Given the description of an element on the screen output the (x, y) to click on. 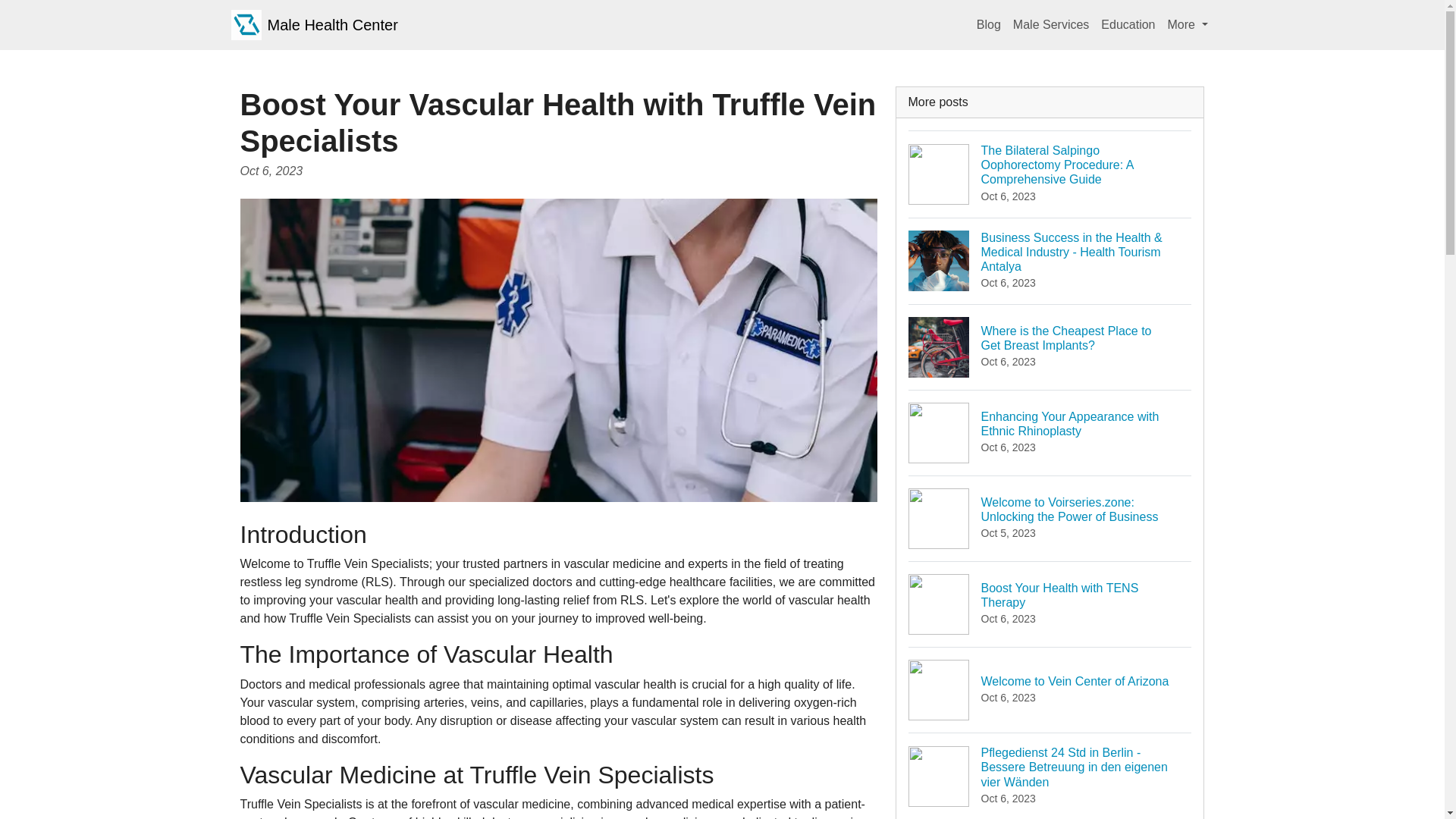
Blog (1050, 604)
Male Services (989, 24)
Education (1050, 24)
More (1127, 24)
